Given the description of an element on the screen output the (x, y) to click on. 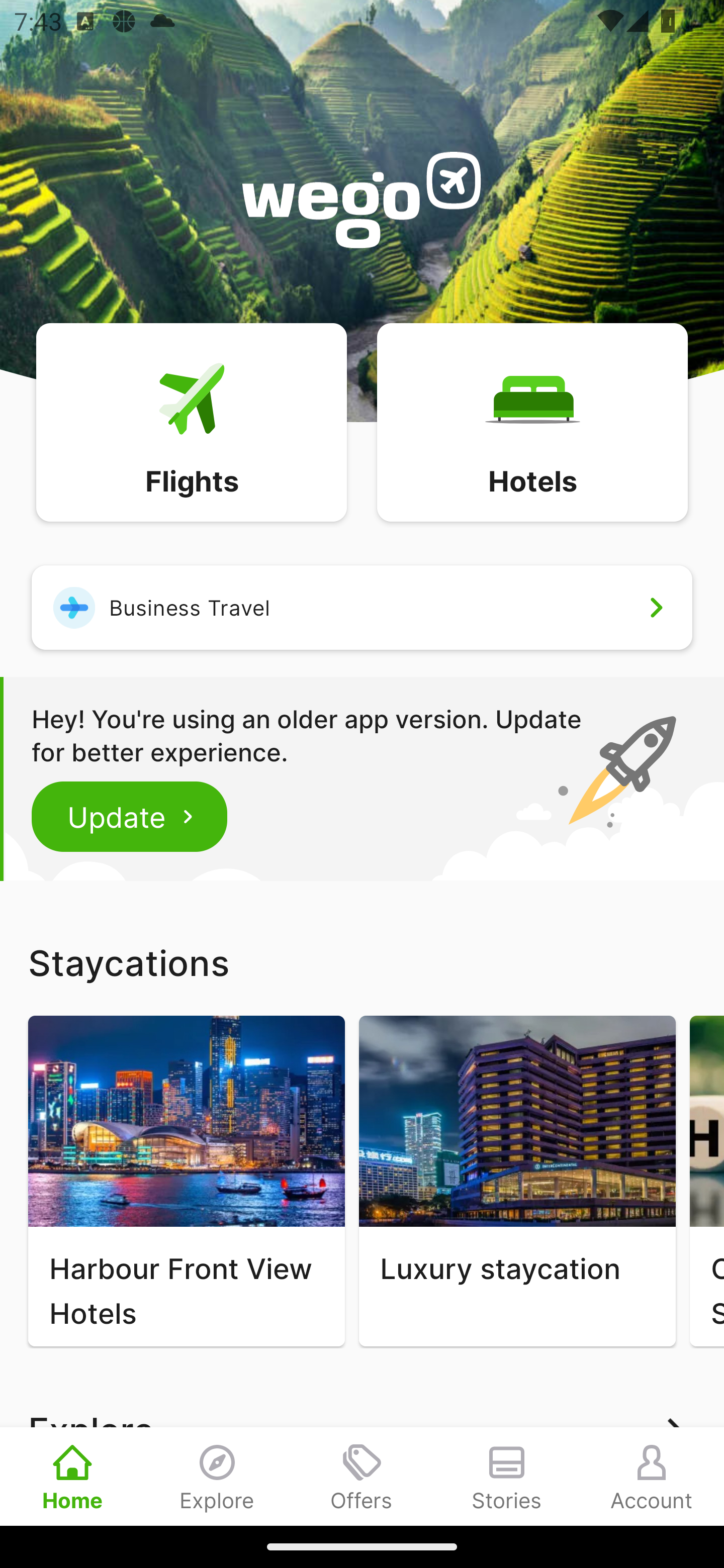
Flights (191, 420)
Hotels (532, 420)
Business Travel (361, 607)
Update (129, 815)
Staycations (362, 962)
Harbour Front View Hotels (186, 1181)
Luxury staycation (517, 1181)
Explore (216, 1475)
Offers (361, 1475)
Stories (506, 1475)
Account (651, 1475)
